Given the description of an element on the screen output the (x, y) to click on. 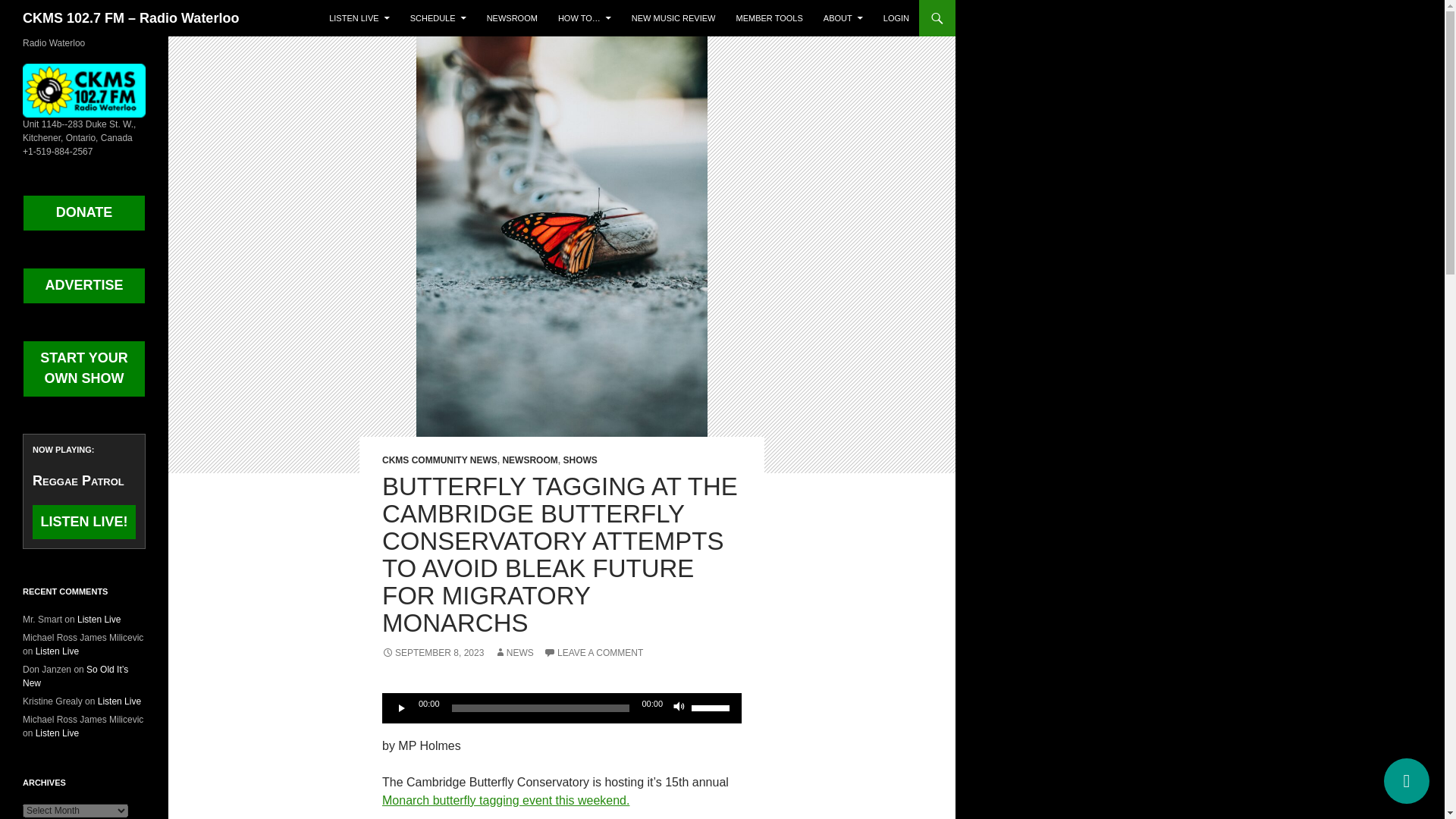
MEMBER TOOLS (768, 18)
NEWSROOM (529, 460)
ABOUT (842, 18)
LISTEN LIVE (358, 18)
SHOWS (579, 460)
CKMS COMMUNITY NEWS (439, 460)
CKMS 102.7 FM - Radio Waterloo (84, 90)
NEWSROOM (512, 18)
SEPTEMBER 8, 2023 (432, 652)
Mute (679, 708)
Play (401, 708)
SCHEDULE (438, 18)
NEWS (514, 652)
Monarch butterfly tagging event this weekend. (504, 799)
LOGIN (896, 18)
